Given the description of an element on the screen output the (x, y) to click on. 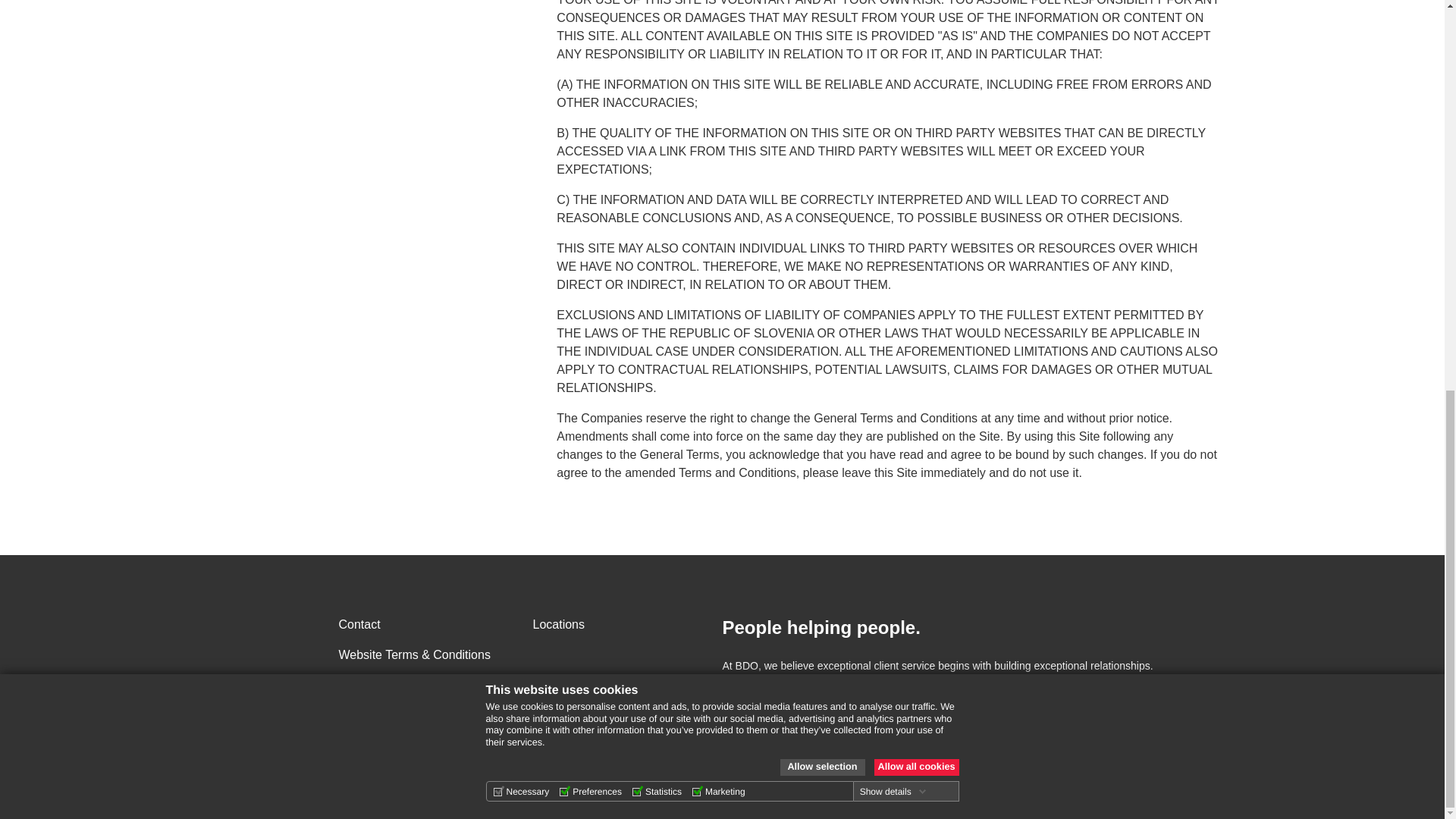
Show details (893, 47)
Allow selection (821, 23)
Allow all cookies (915, 23)
